Given the description of an element on the screen output the (x, y) to click on. 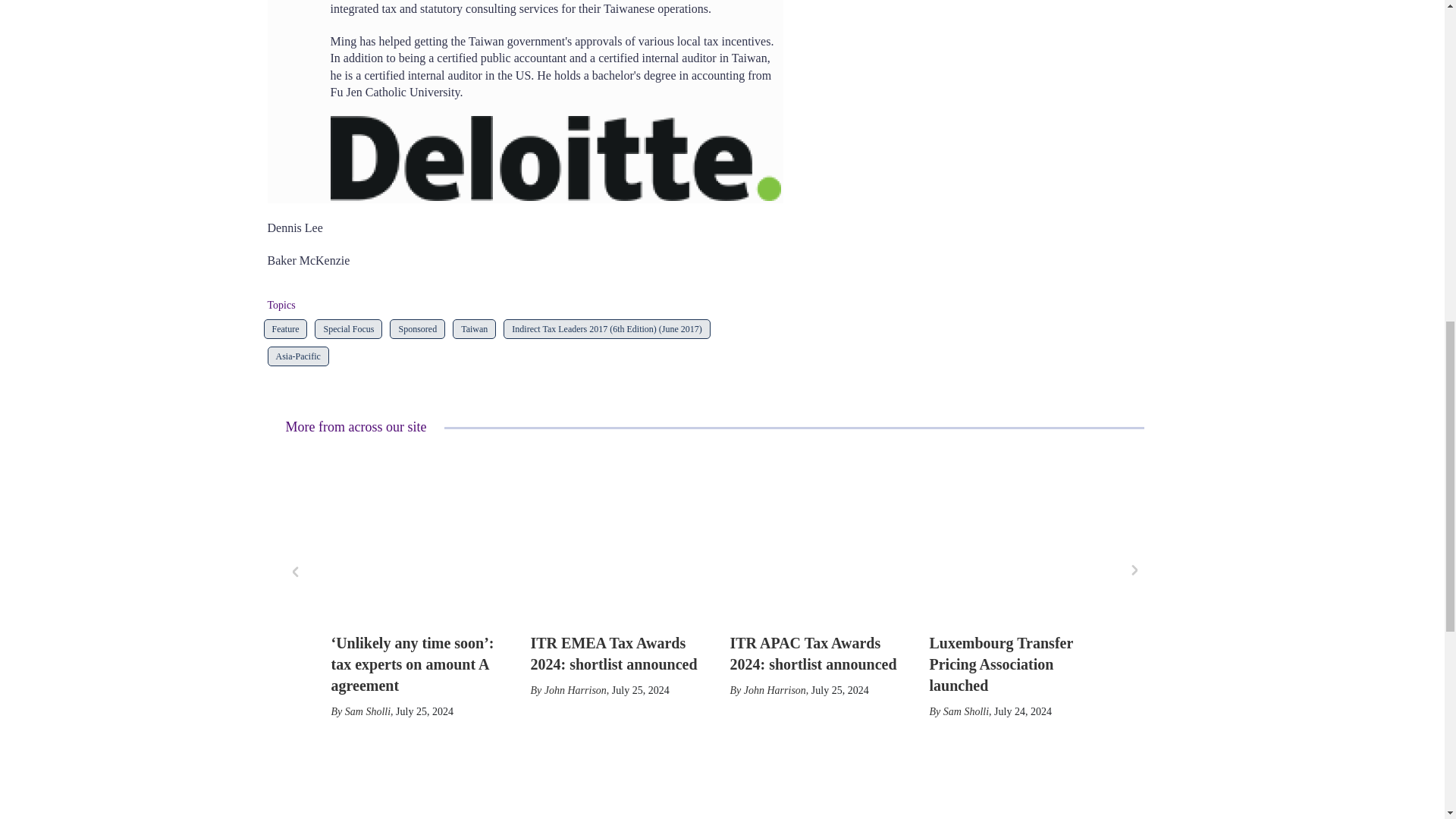
3rd party ad content (714, 795)
